Given the description of an element on the screen output the (x, y) to click on. 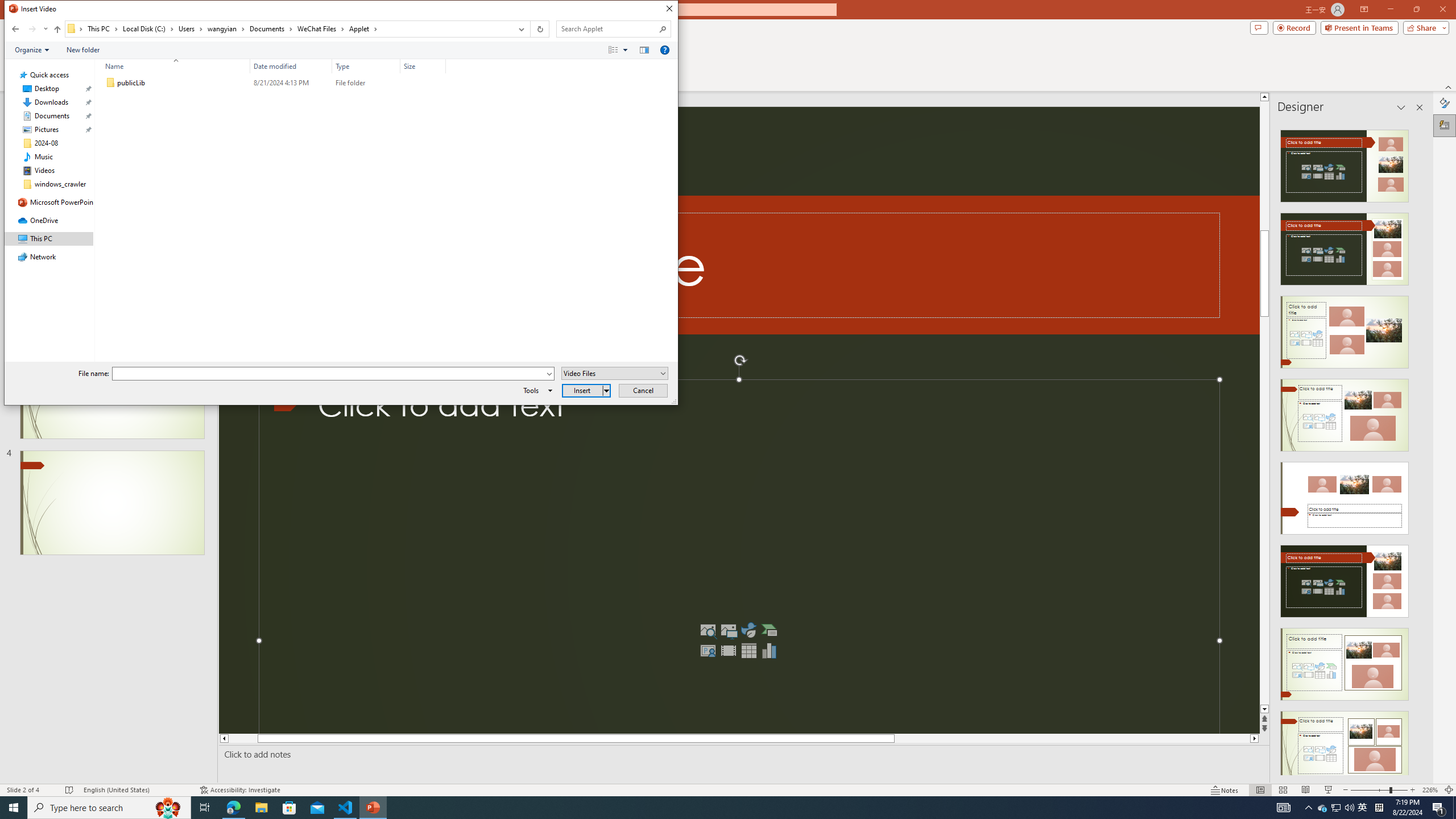
Back to WeChat Files (Alt + Left Arrow) (15, 28)
Previous Locations (520, 28)
This PC (102, 28)
